Given the description of an element on the screen output the (x, y) to click on. 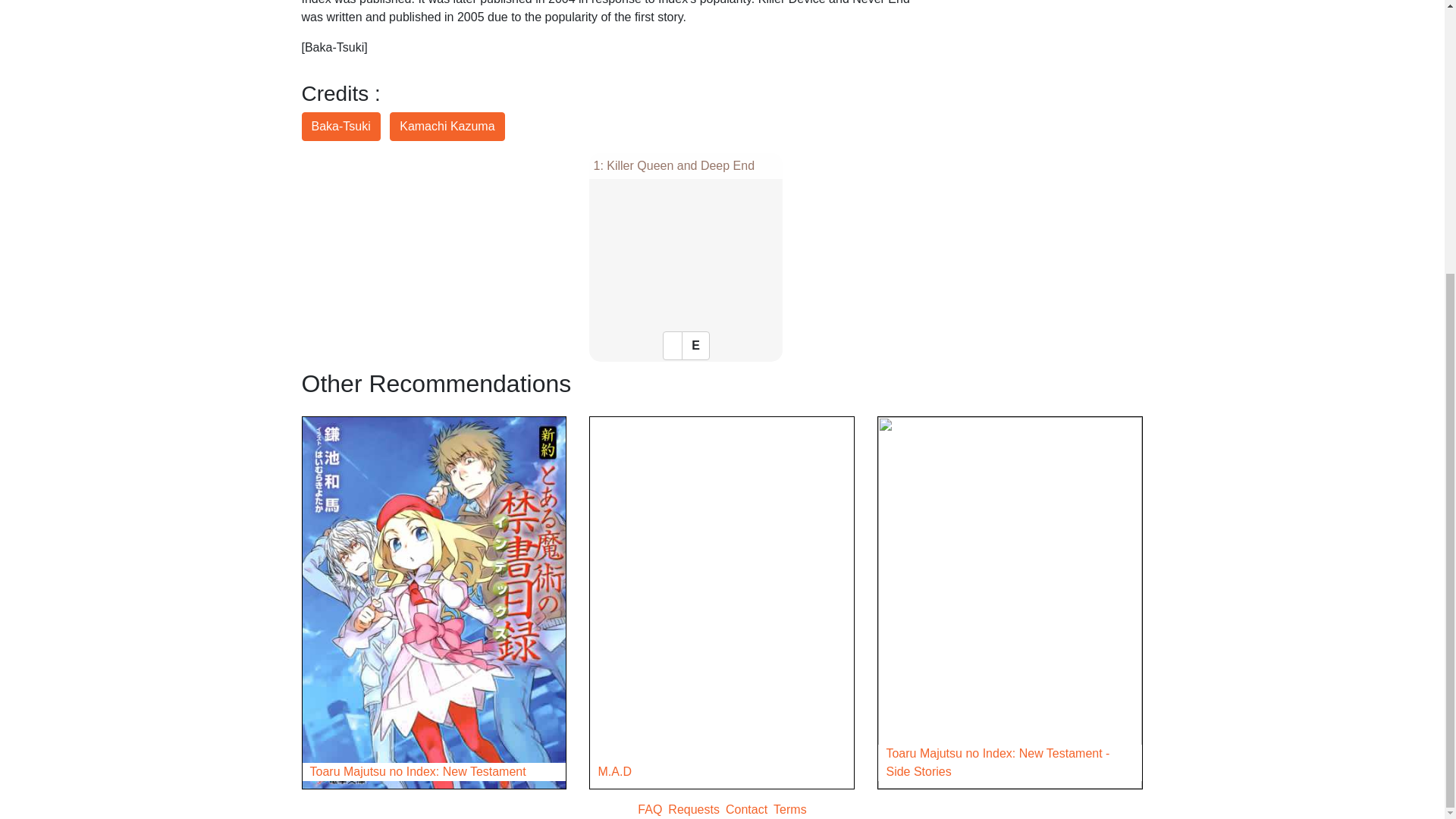
Contact (746, 809)
E (695, 345)
Requests (693, 809)
Toaru Majutsu no Index: New Testament - Side Stories (1009, 762)
Terms (789, 809)
M.A.D (721, 771)
Author (446, 126)
Translator (340, 126)
EPUB download (695, 345)
Kamachi Kazuma (446, 126)
